Given the description of an element on the screen output the (x, y) to click on. 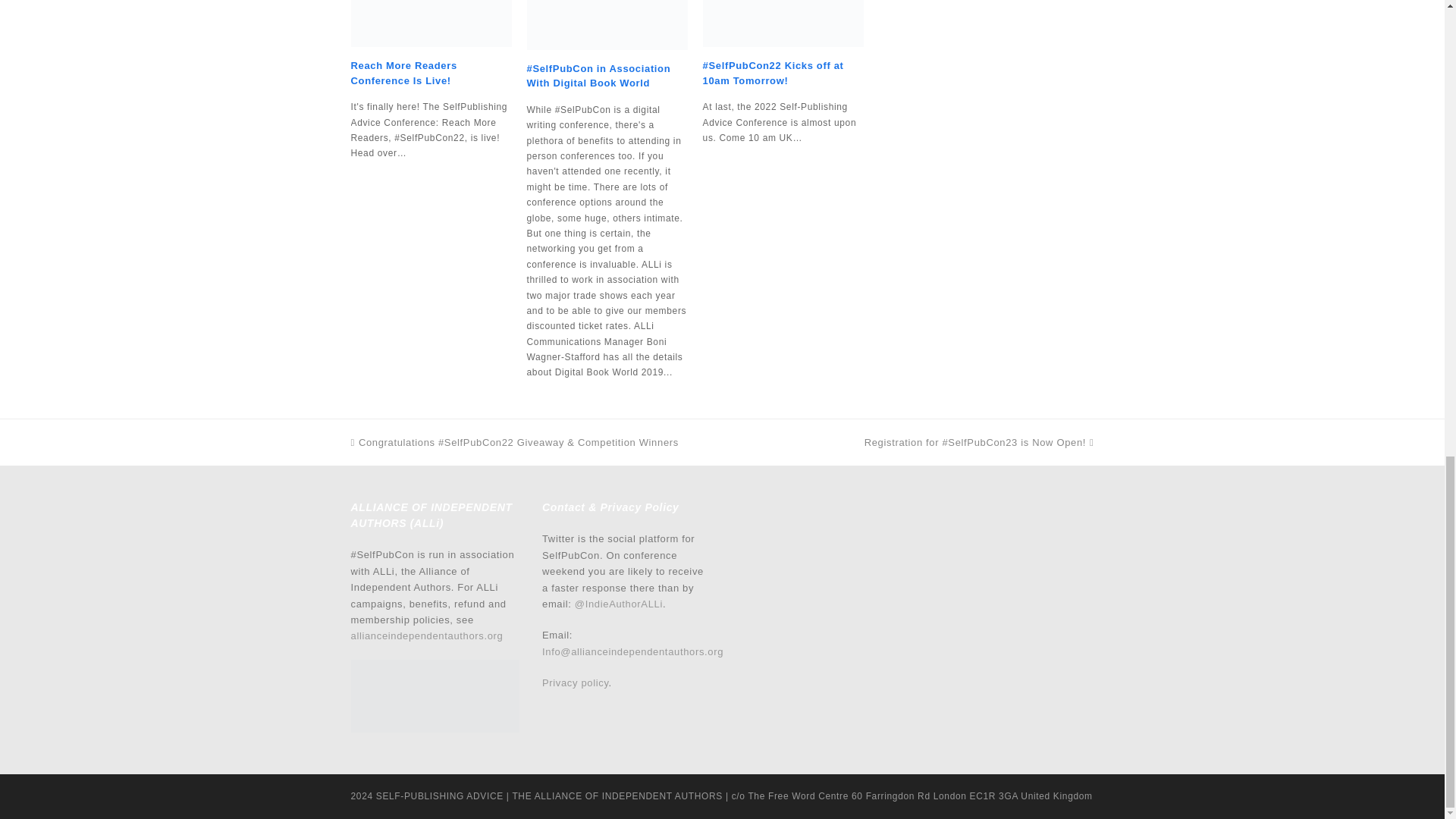
Reach More Readers Conference Is Live! (403, 72)
Reach More Readers Conference Is Live! (430, 23)
